Given the description of an element on the screen output the (x, y) to click on. 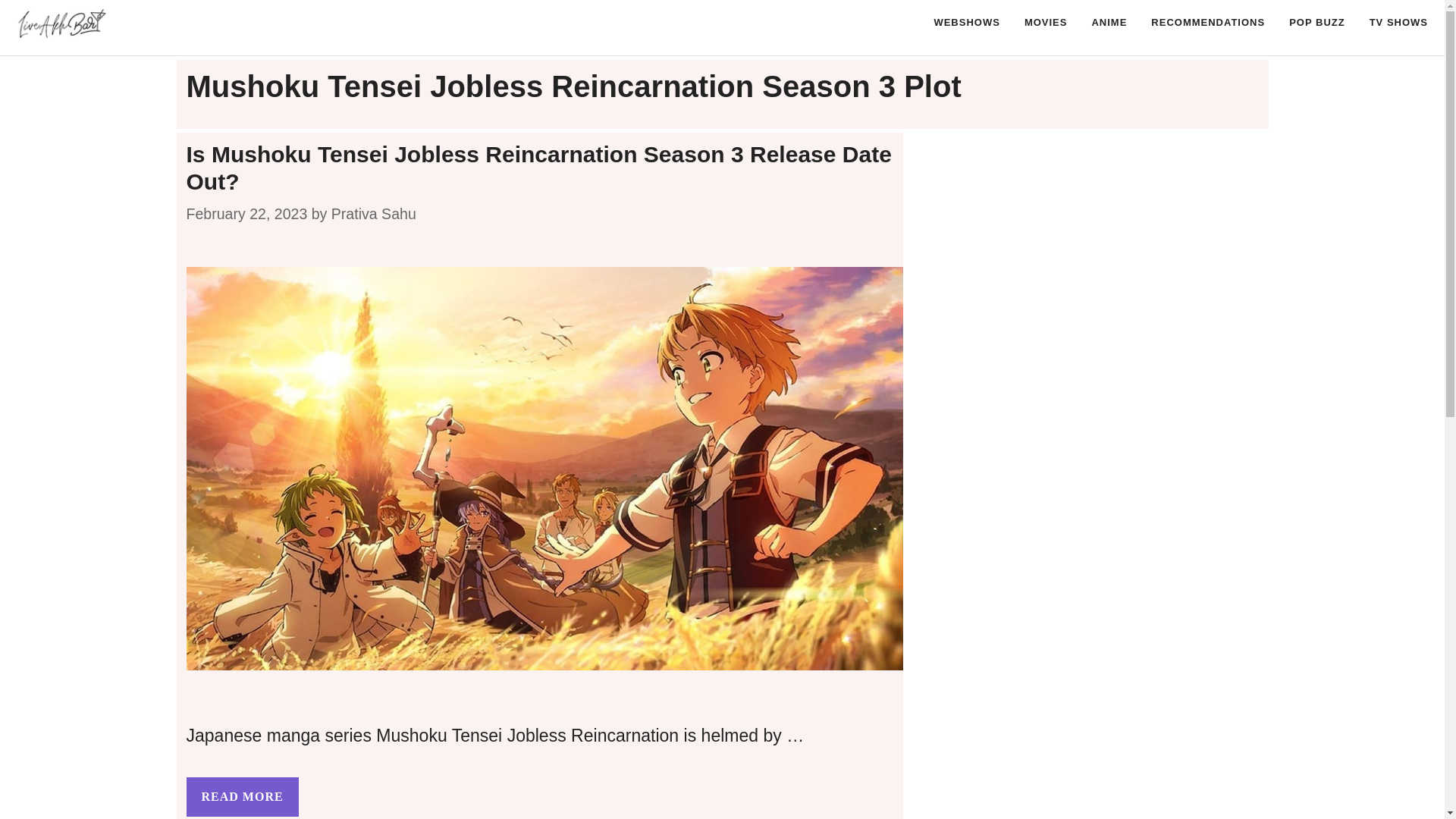
WEBSHOWS (966, 22)
RECOMMENDATIONS (1207, 22)
POP BUZZ (1316, 22)
ANIME (1108, 22)
Prativa Sahu (373, 213)
READ MORE (242, 796)
MOVIES (1045, 22)
TV SHOWS (1397, 22)
View all posts by Prativa Sahu (373, 213)
